Given the description of an element on the screen output the (x, y) to click on. 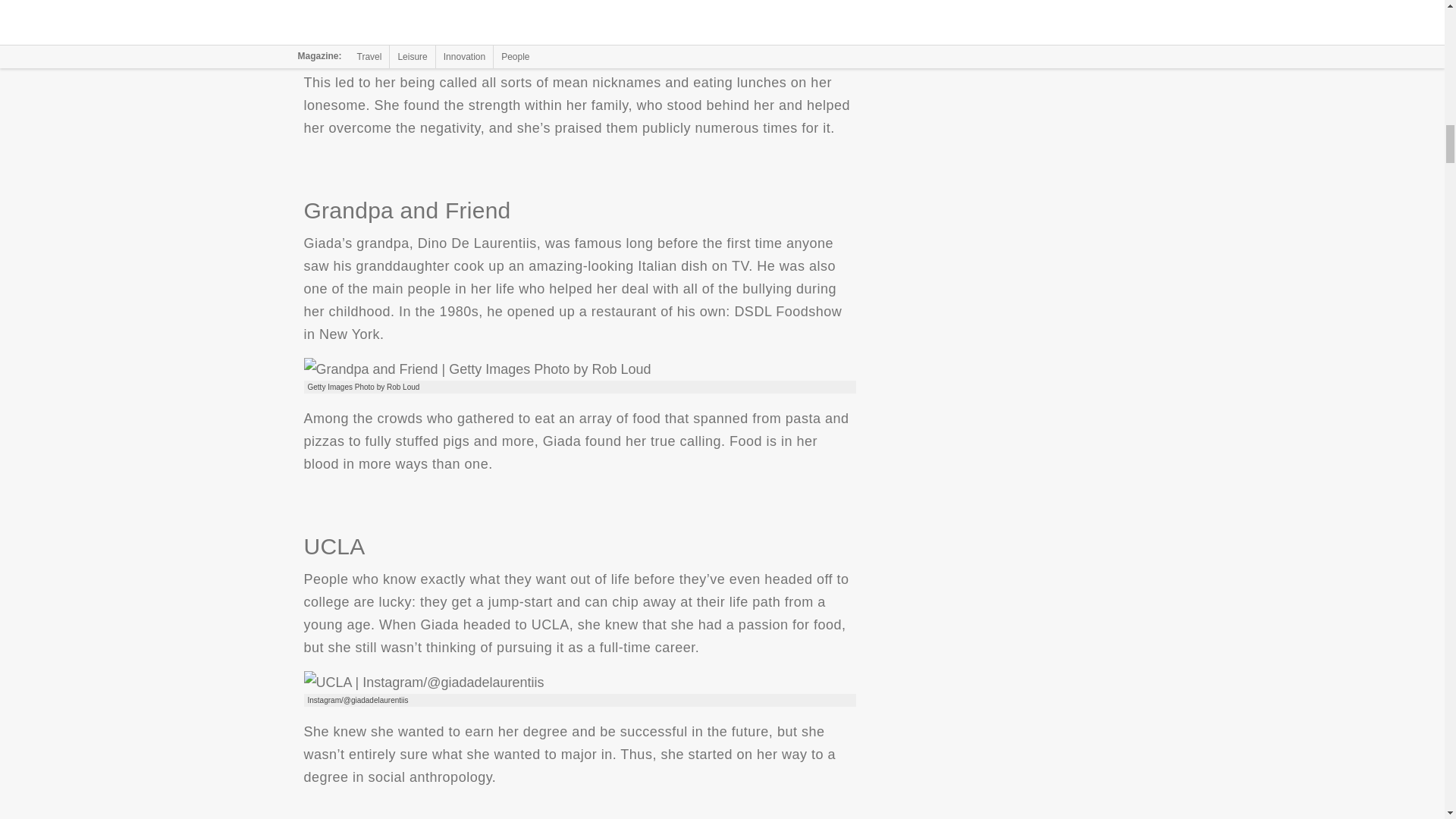
Battling Bullying (453, 32)
Grandpa and Friend (476, 368)
UCLA (422, 681)
